Given the description of an element on the screen output the (x, y) to click on. 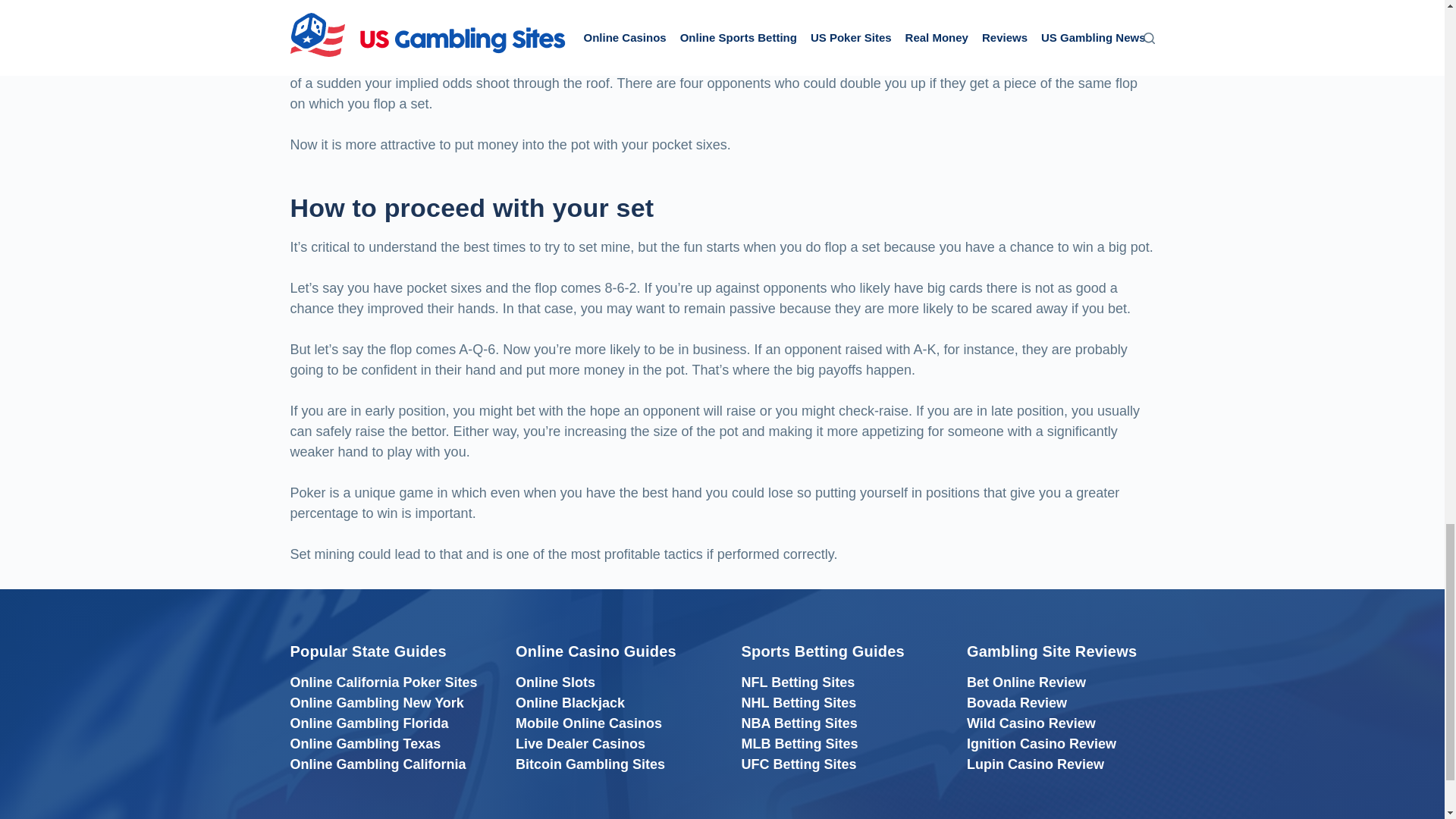
Online California Poker Sites (383, 682)
Online Gambling New York (376, 702)
